Given the description of an element on the screen output the (x, y) to click on. 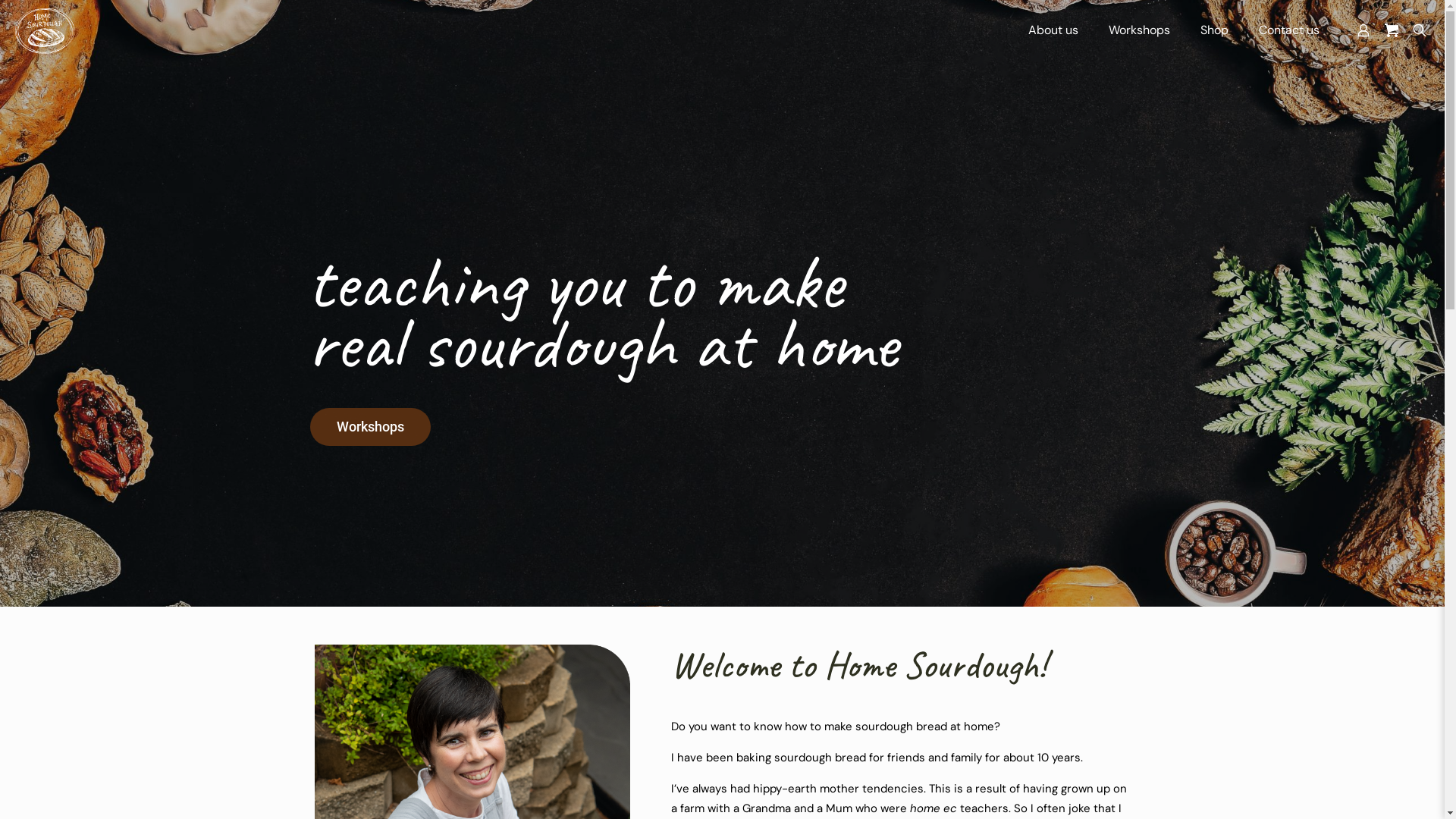
Workshops Element type: text (369, 426)
Workshops Element type: text (1139, 30)
Contact us Element type: text (1288, 30)
About us Element type: text (1053, 30)
Home Sourdough Element type: hover (44, 30)
Shop Element type: text (1214, 30)
